Given the description of an element on the screen output the (x, y) to click on. 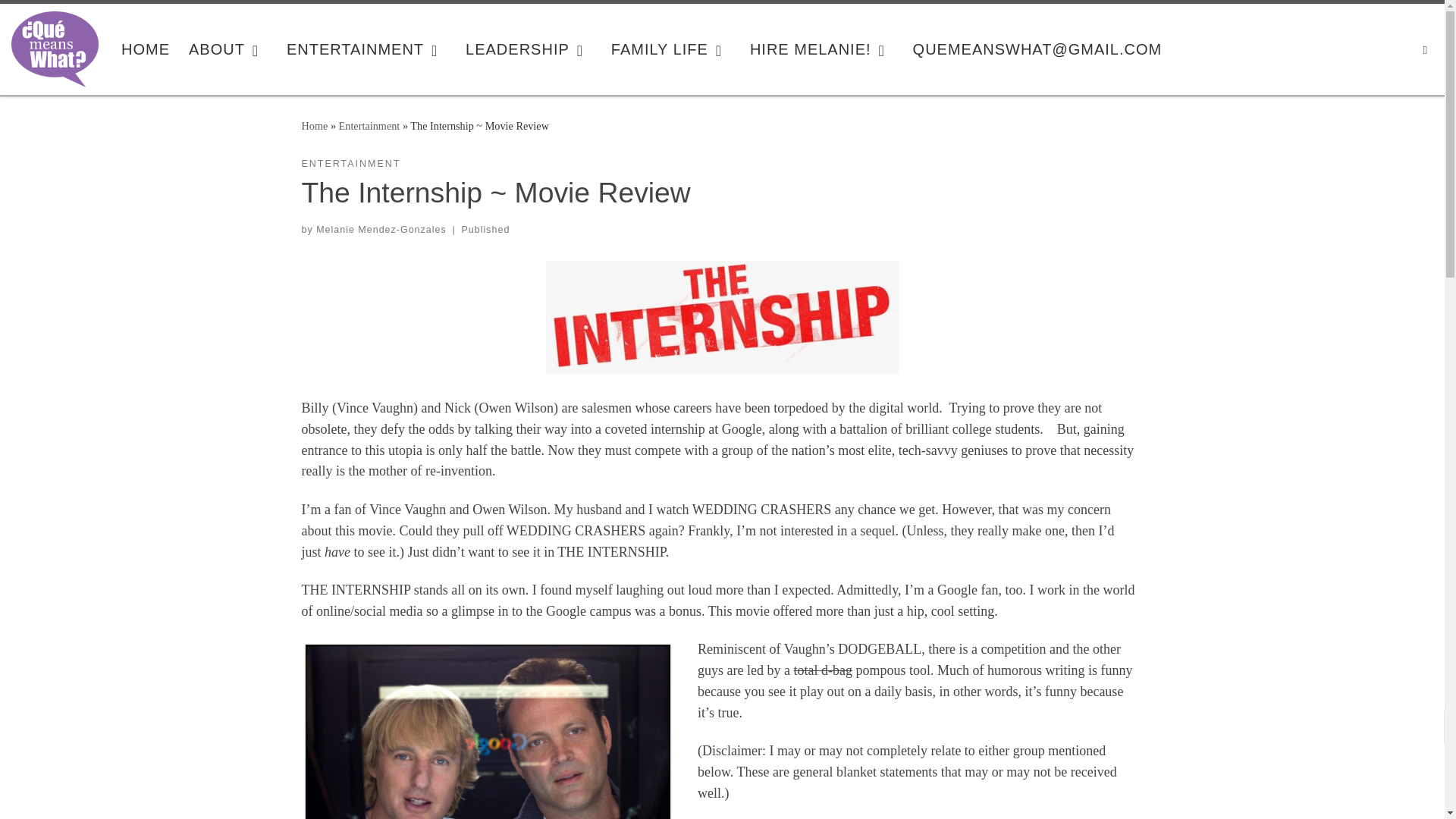
View all posts by Melanie Mendez-Gonzales (380, 229)
ABOUT (228, 49)
LEADERSHIP (528, 49)
View all posts in Entertainment (351, 164)
HIRE MELANIE! (821, 49)
ENTERTAINMENT (366, 49)
Entertainment (369, 125)
HOME (145, 49)
FAMILY LIFE (671, 49)
Explore and Celebrate the Mexican-American Culture (145, 49)
